Given the description of an element on the screen output the (x, y) to click on. 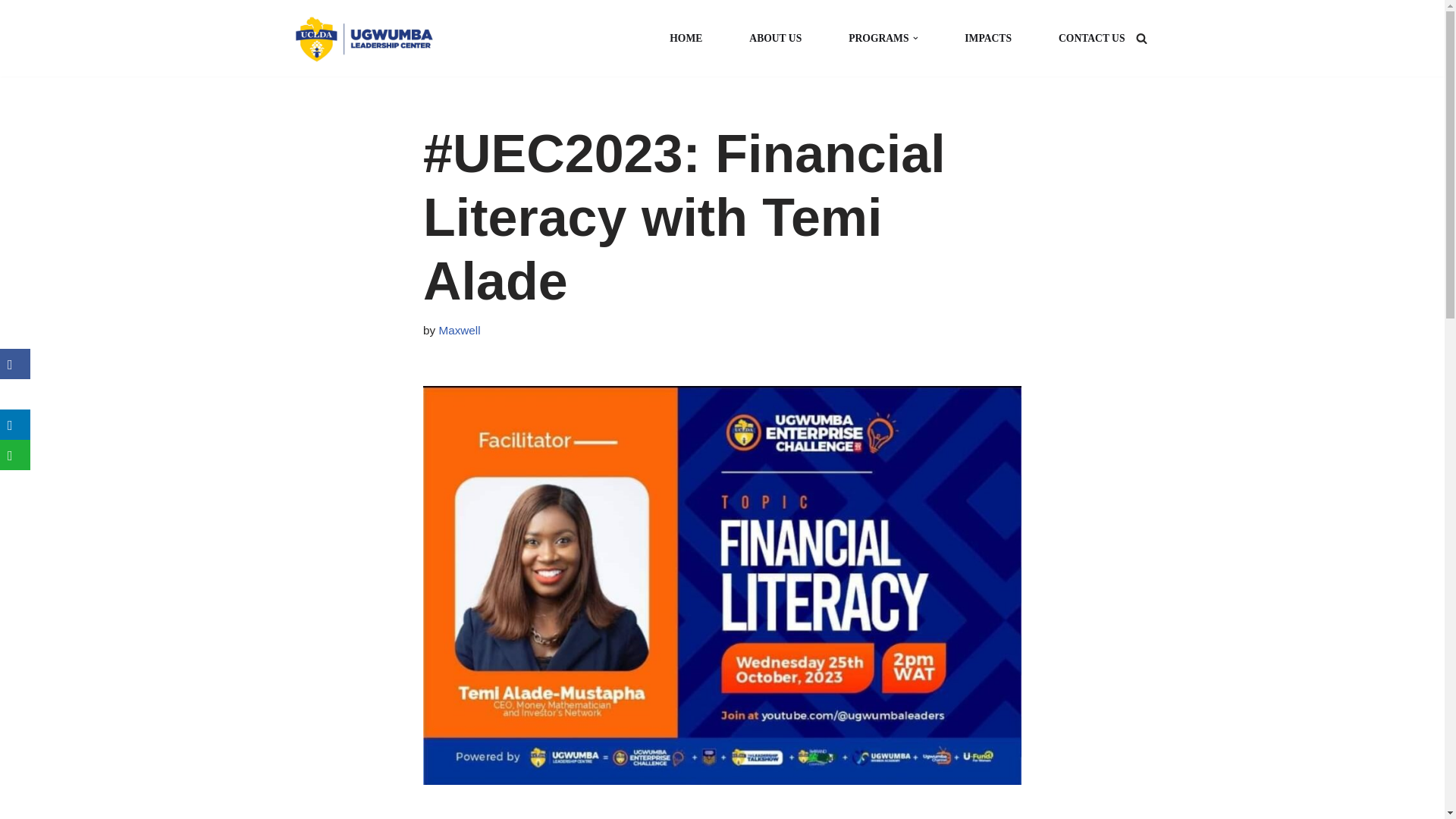
Maxwell (459, 329)
ABOUT US (775, 37)
PROGRAMS (878, 37)
CONTACT US (1091, 37)
Posts by Maxwell (459, 329)
IMPACTS (987, 37)
Skip to content (11, 31)
